Given the description of an element on the screen output the (x, y) to click on. 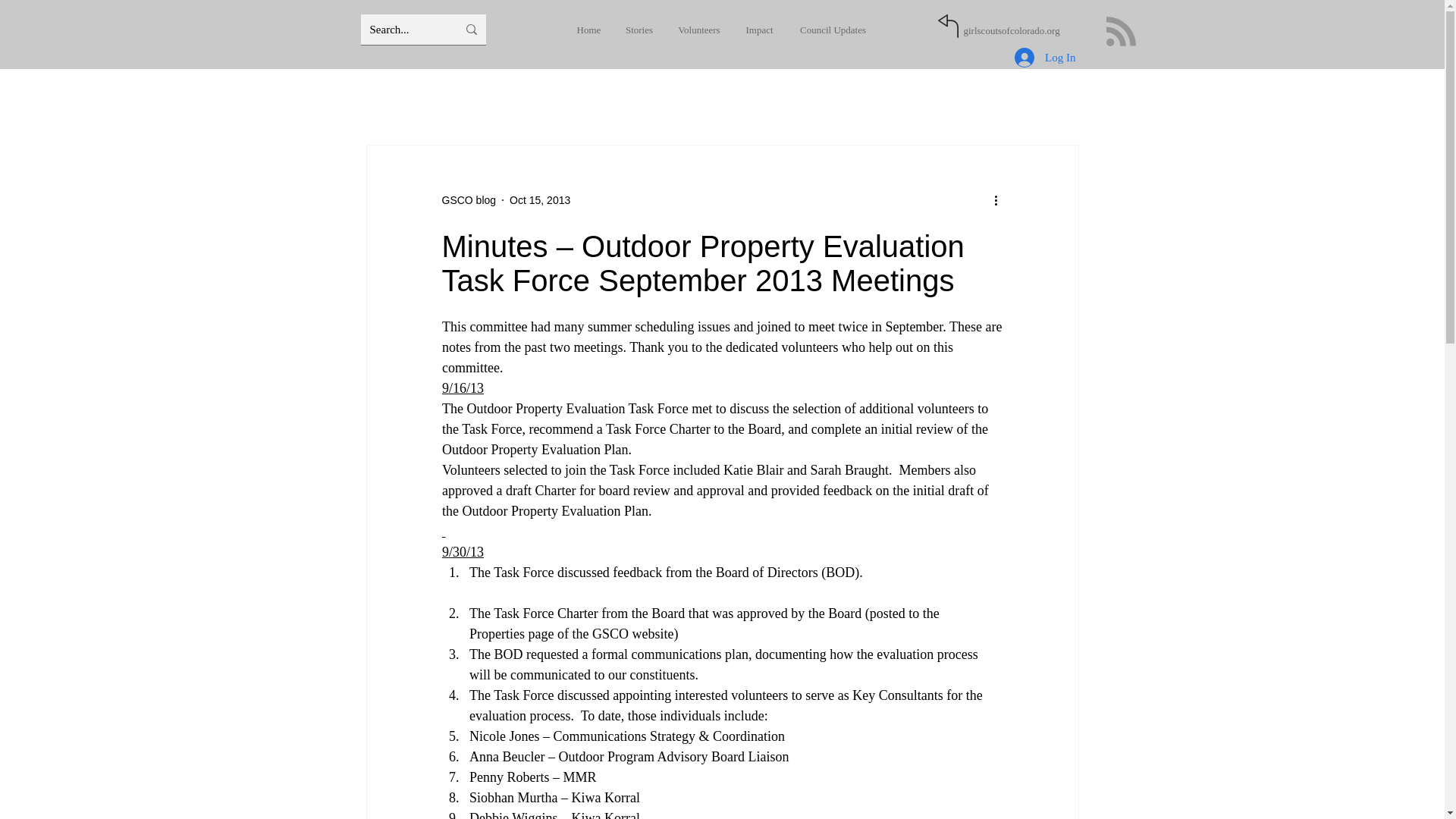
GSCO blog (468, 200)
Stories (643, 29)
Impact (758, 29)
Log In (1045, 57)
GSCO blog (468, 200)
Home (595, 29)
Council Updates (828, 29)
girlscoutsofcolorado.org (1010, 30)
Volunteers (700, 29)
Oct 15, 2013 (539, 200)
